Given the description of an element on the screen output the (x, y) to click on. 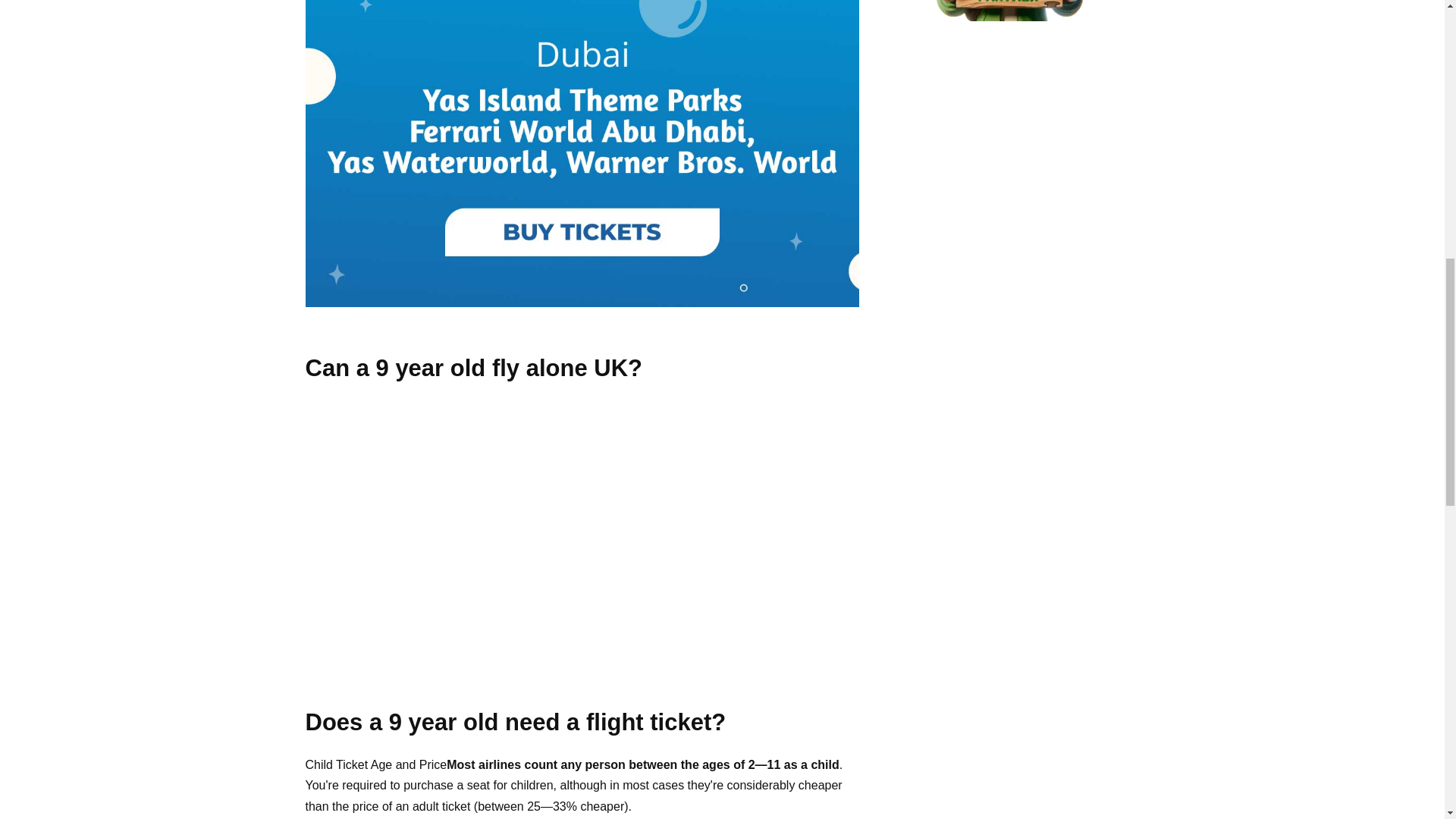
Can a 9 year old fly alone UK? (532, 527)
